Given the description of an element on the screen output the (x, y) to click on. 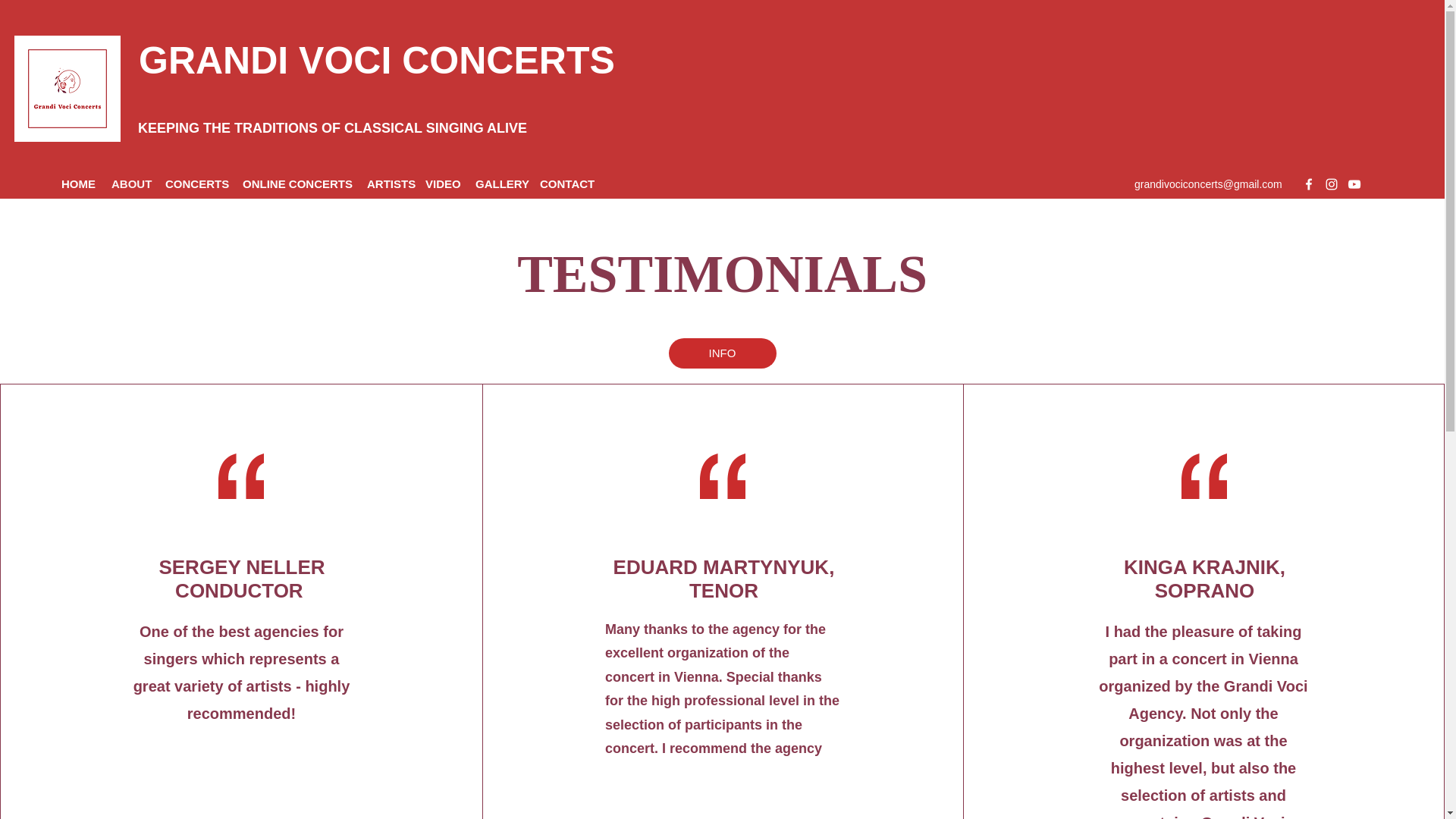
VIDEO (442, 183)
ABOUT (130, 183)
ONLINE CONCERTS (296, 183)
HOME (78, 183)
ARTISTS (388, 183)
CONCERTS (195, 183)
